Given the description of an element on the screen output the (x, y) to click on. 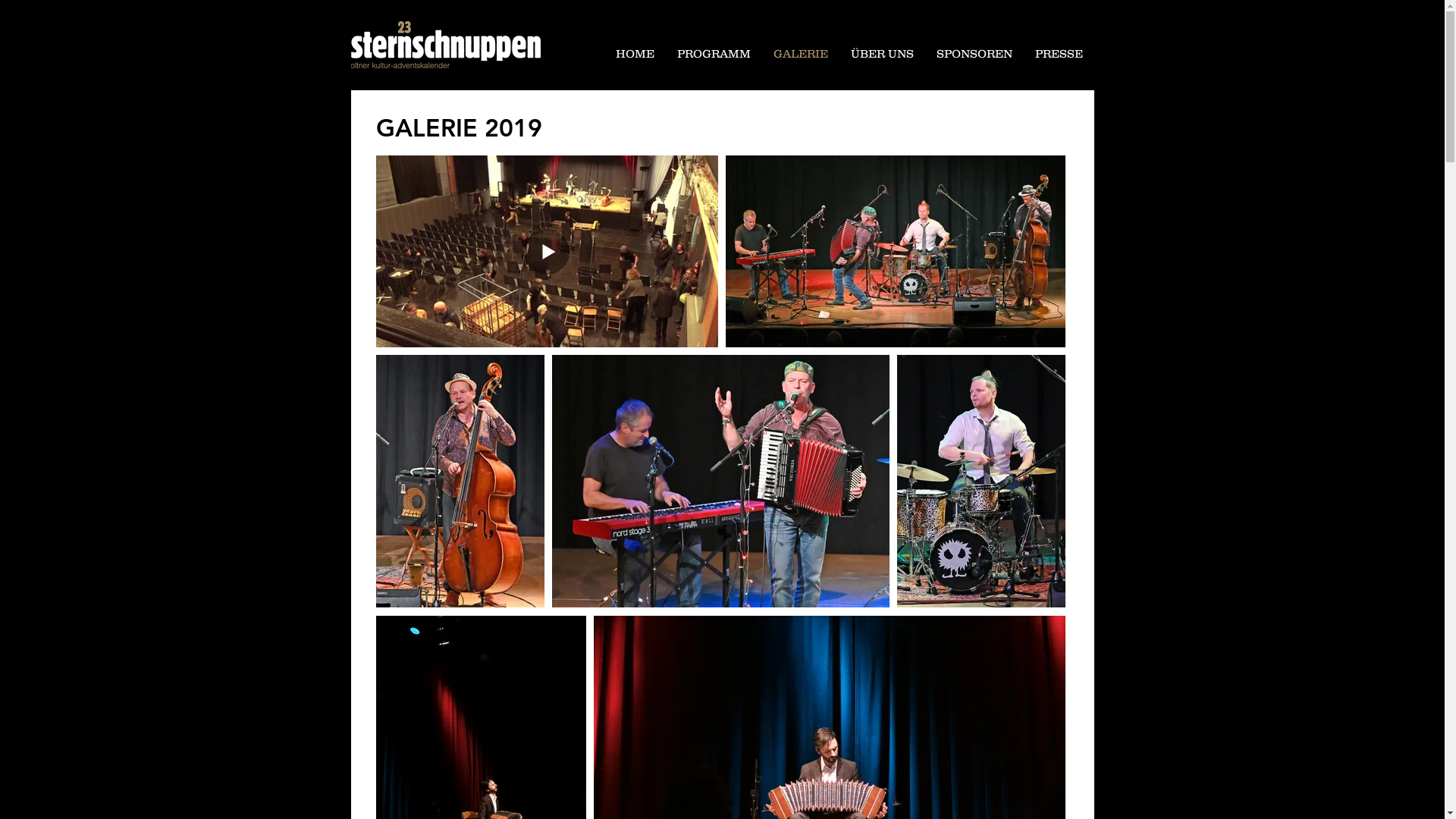
HOME Element type: text (634, 52)
GALERIE Element type: text (799, 52)
PRESSE Element type: text (1058, 52)
PROGRAMM Element type: text (713, 52)
SPONSOREN Element type: text (974, 52)
